Given the description of an element on the screen output the (x, y) to click on. 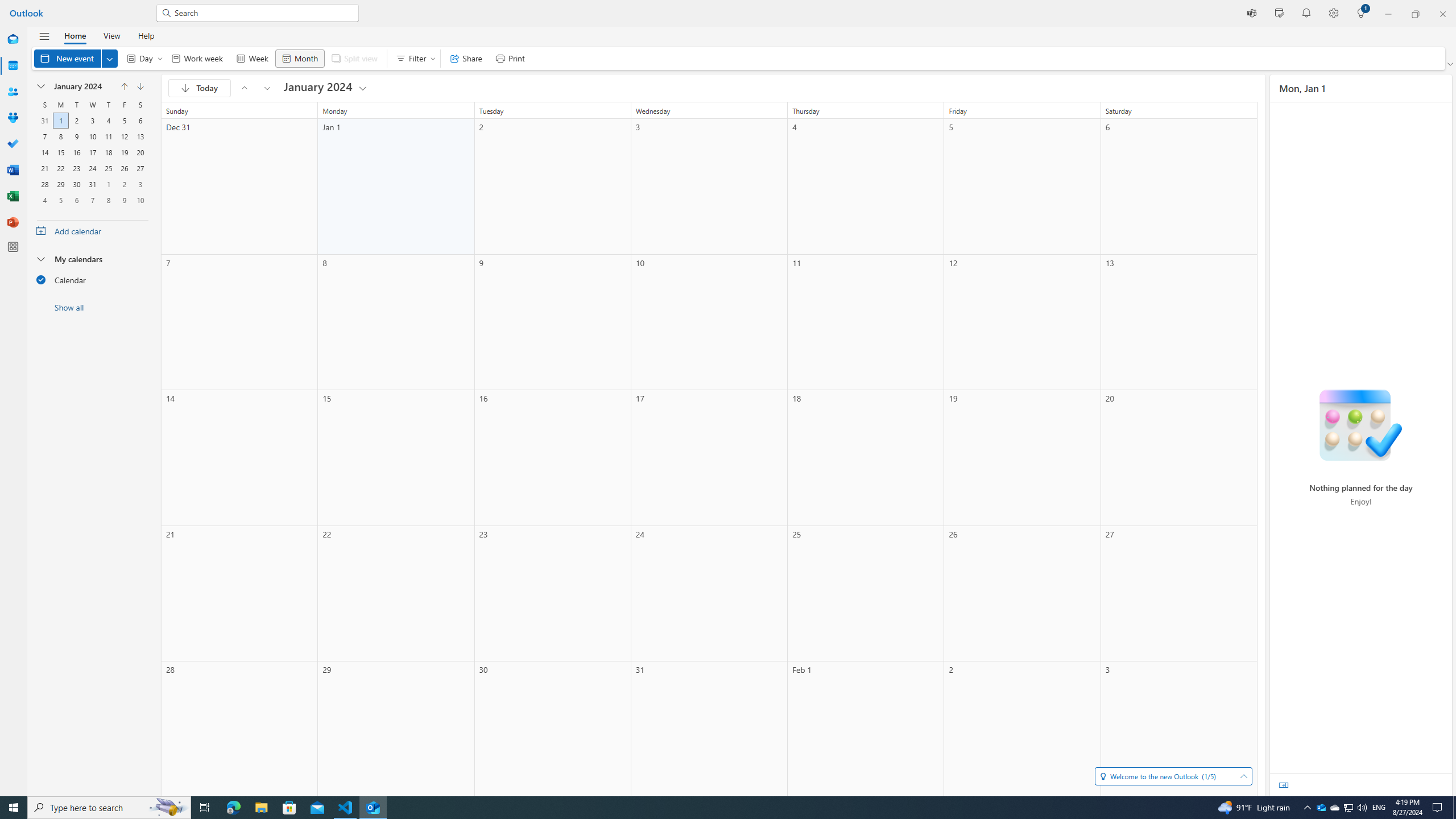
Month (299, 58)
Tuesday (76, 104)
To Do (12, 143)
26, January, 2024 (124, 168)
6, February, 2024 (75, 200)
21, January, 2024 (44, 168)
28, January, 2024 (44, 184)
Wednesday (92, 104)
4, January, 2024 (108, 120)
2, February, 2024 (124, 184)
System (6, 6)
Outlook (new) - 1 running window (373, 807)
Ribbon display options (1450, 63)
